Given the description of an element on the screen output the (x, y) to click on. 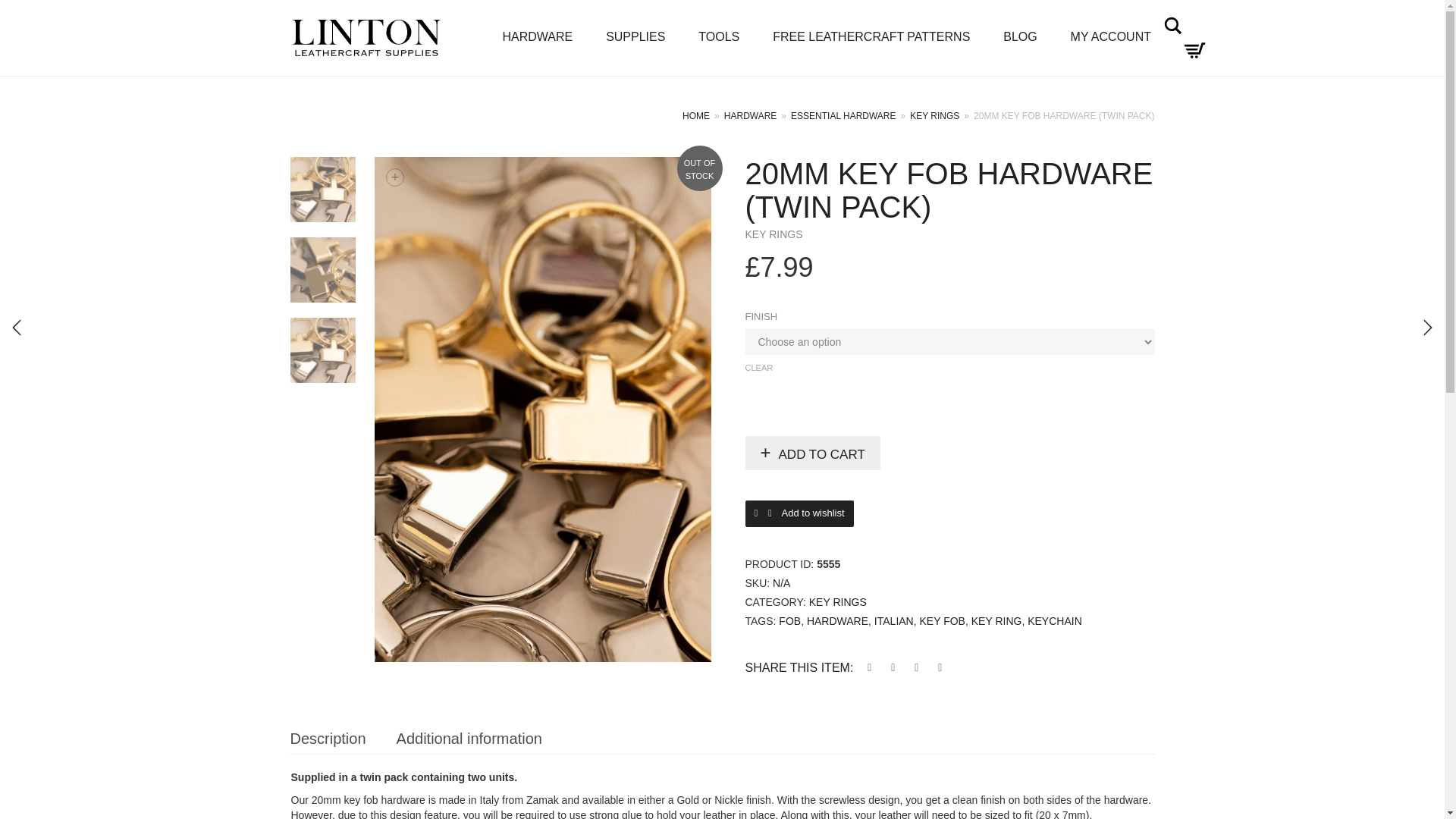
View full size (394, 177)
SUPPLIES (635, 37)
DSC02115 (322, 189)
DSC02117 (322, 269)
FREE LEATHERCRAFT PATTERNS (871, 37)
Search (1172, 25)
MY ACCOUNT (1110, 37)
TOOLS (718, 37)
HARDWARE (537, 37)
BLOG (1019, 37)
